Given the description of an element on the screen output the (x, y) to click on. 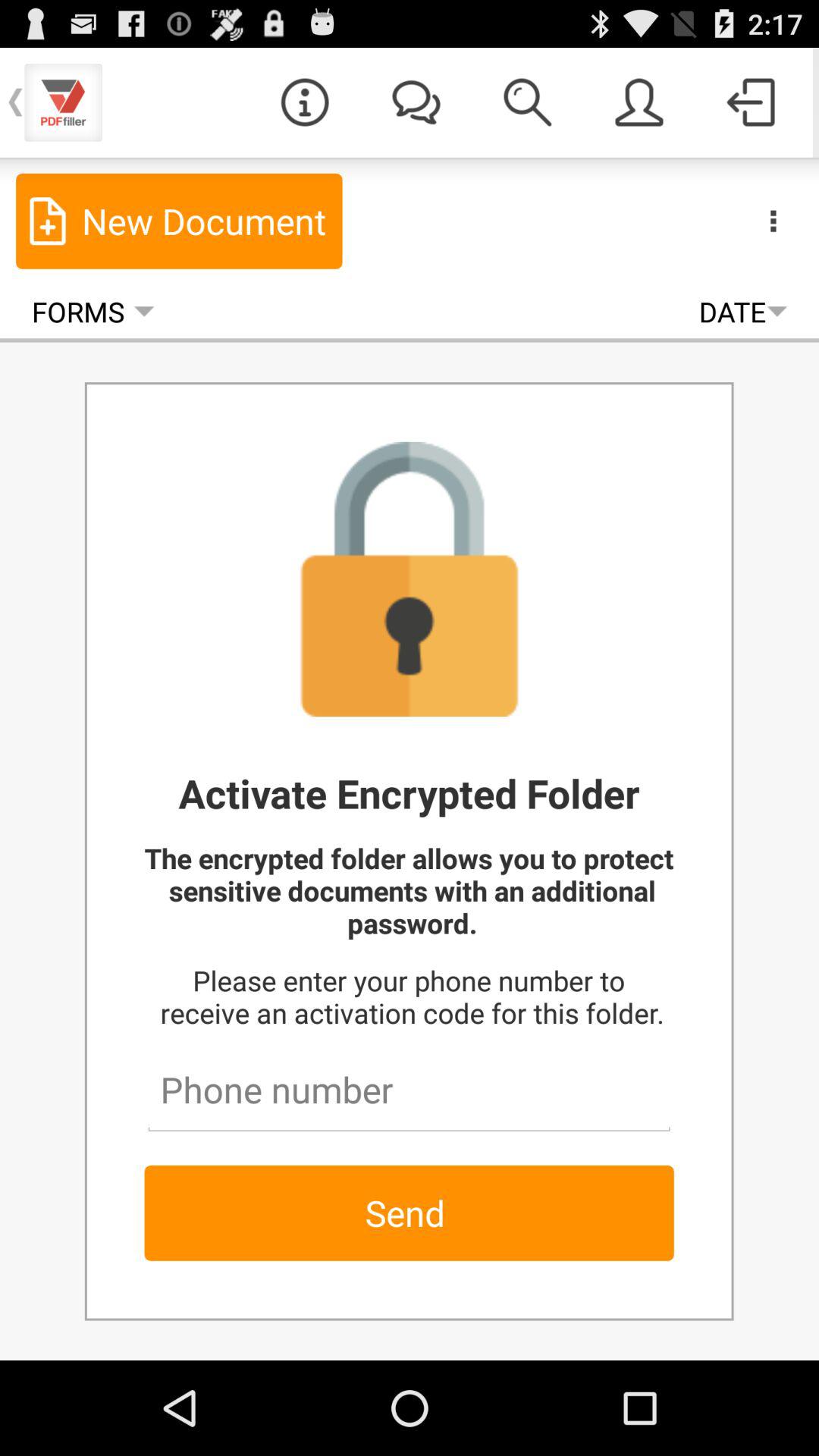
press new document (178, 221)
